Given the description of an element on the screen output the (x, y) to click on. 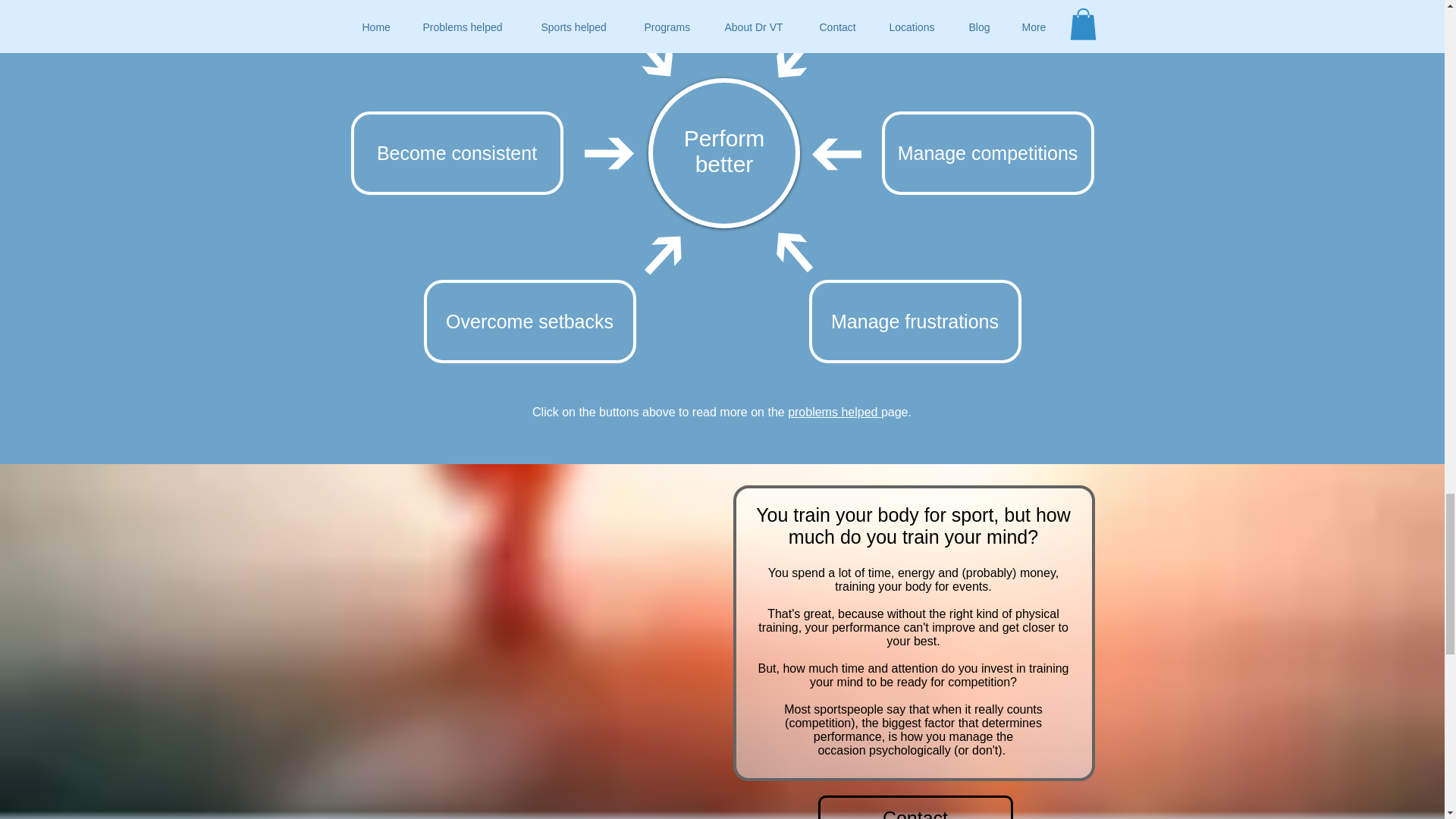
Manage competitions (986, 152)
Contact (913, 807)
Overcome setbacks (528, 321)
Become confident (528, 13)
Perform better (724, 151)
Manage frustrations (914, 321)
problems helped (833, 411)
Become consistent (456, 152)
Conquer nerves (914, 13)
